Given the description of an element on the screen output the (x, y) to click on. 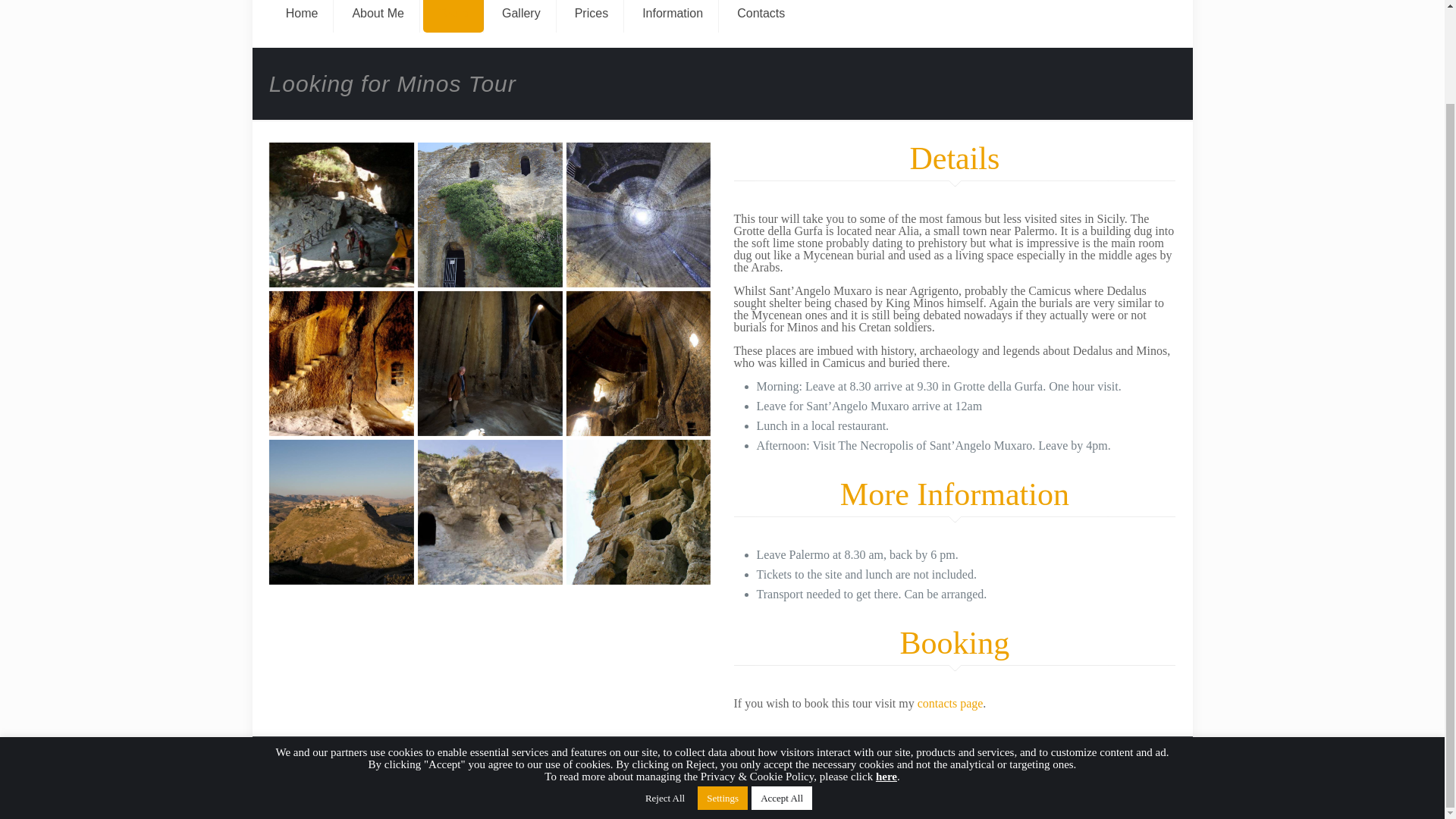
Tours (453, 16)
Home (302, 16)
GrotteGurfa (489, 214)
Prices (591, 16)
il Tholos (638, 214)
Facebook (1120, 766)
Contacts (760, 16)
Gallery (521, 16)
About Me (377, 16)
Information (673, 16)
La Gurfa. (341, 363)
antro-grotta-sant-angelo (341, 214)
La Gurfa (489, 363)
